Given the description of an element on the screen output the (x, y) to click on. 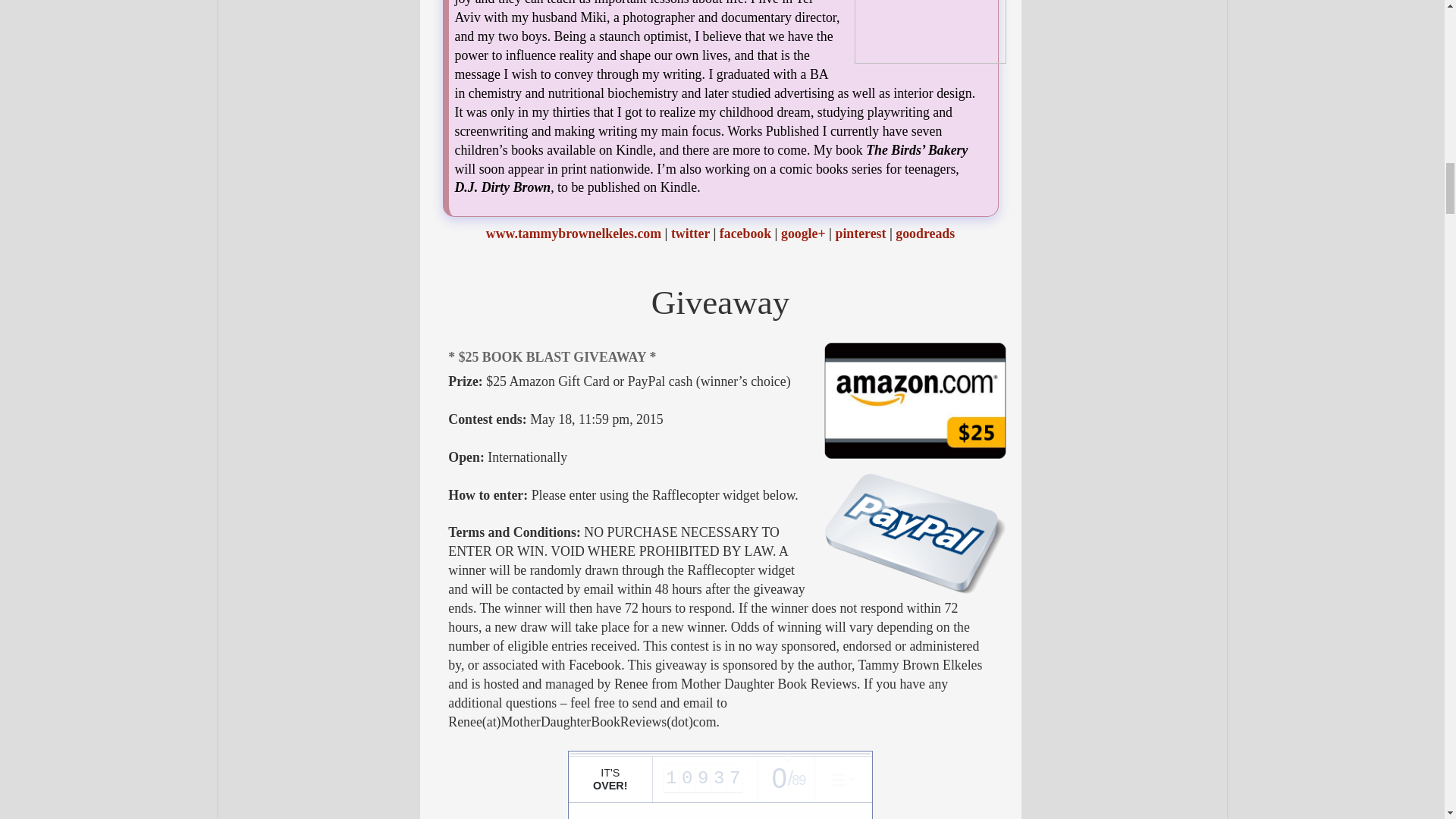
twitter (690, 233)
facebook (745, 233)
www.tammybrownelkeles.com (573, 233)
goodreads (925, 233)
pinterest (859, 233)
